Given the description of an element on the screen output the (x, y) to click on. 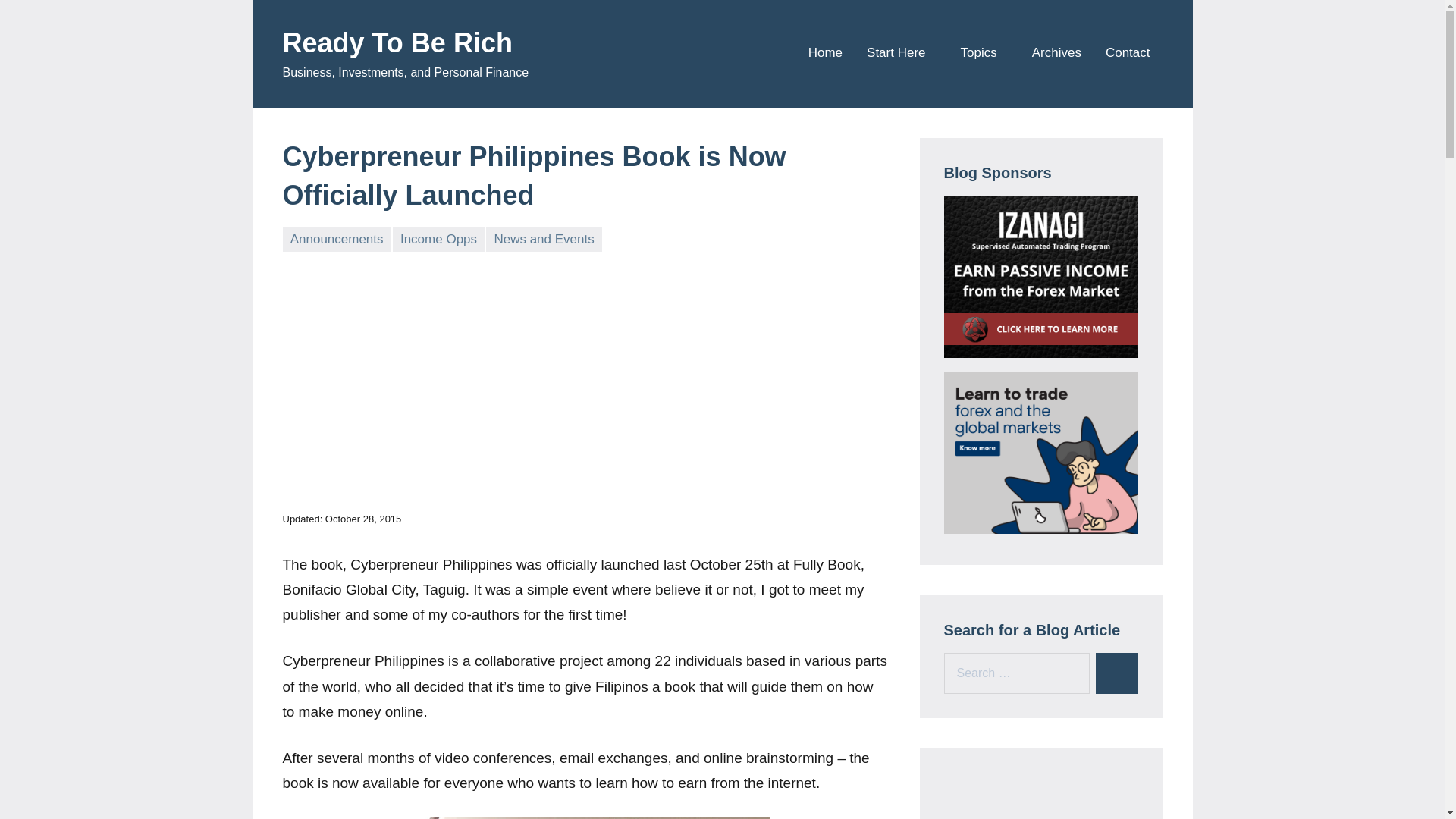
Start Here (901, 53)
Home (825, 53)
News and Events (544, 238)
Advertisement (1040, 796)
Announcements (336, 238)
Income Opps (438, 238)
Ready To Be Rich (397, 42)
Topics (983, 53)
Contact (1127, 53)
Search for: (1016, 672)
Advertisement (585, 377)
Archives (1056, 53)
